Given the description of an element on the screen output the (x, y) to click on. 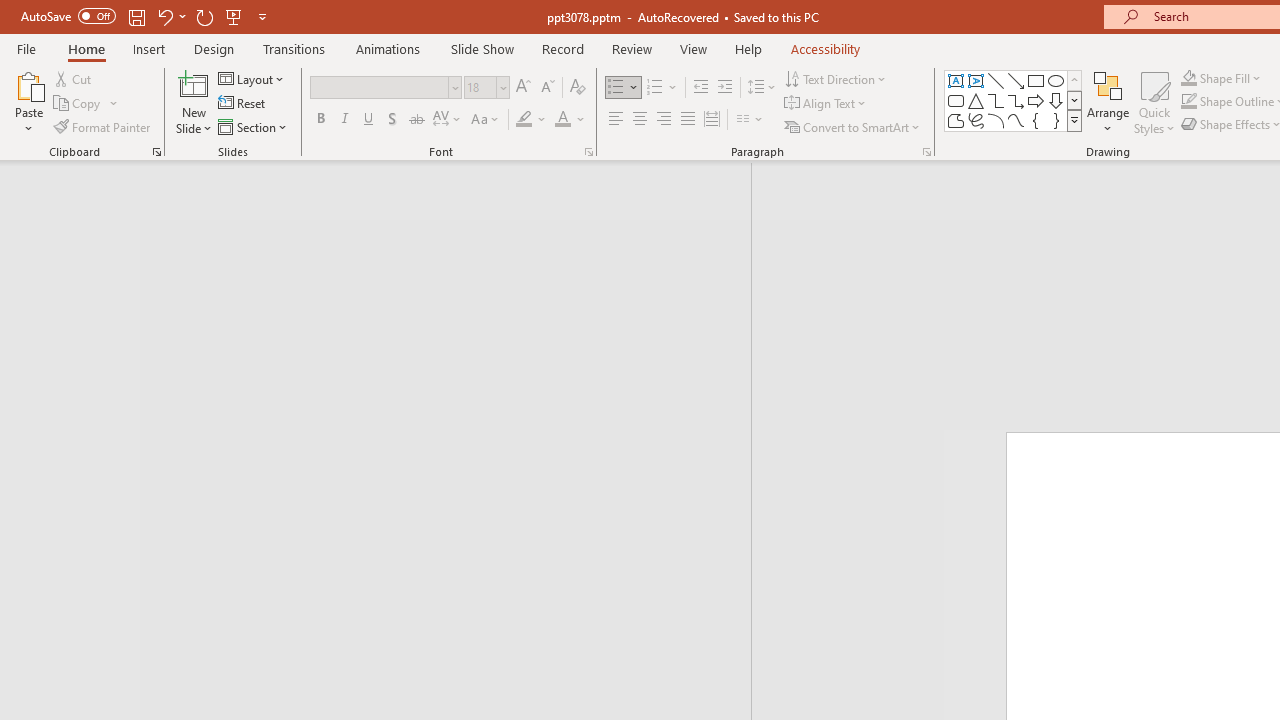
New Slide (193, 102)
Strikethrough (416, 119)
Shape Fill Dark Green, Accent 2 (1188, 78)
AutoSave (68, 16)
Paragraph... (926, 151)
Save (136, 15)
Class: NetUIImage (1075, 120)
Clear Formatting (577, 87)
Connector: Elbow (995, 100)
Arc (995, 120)
Increase Font Size (522, 87)
Layout (252, 78)
